Given the description of an element on the screen output the (x, y) to click on. 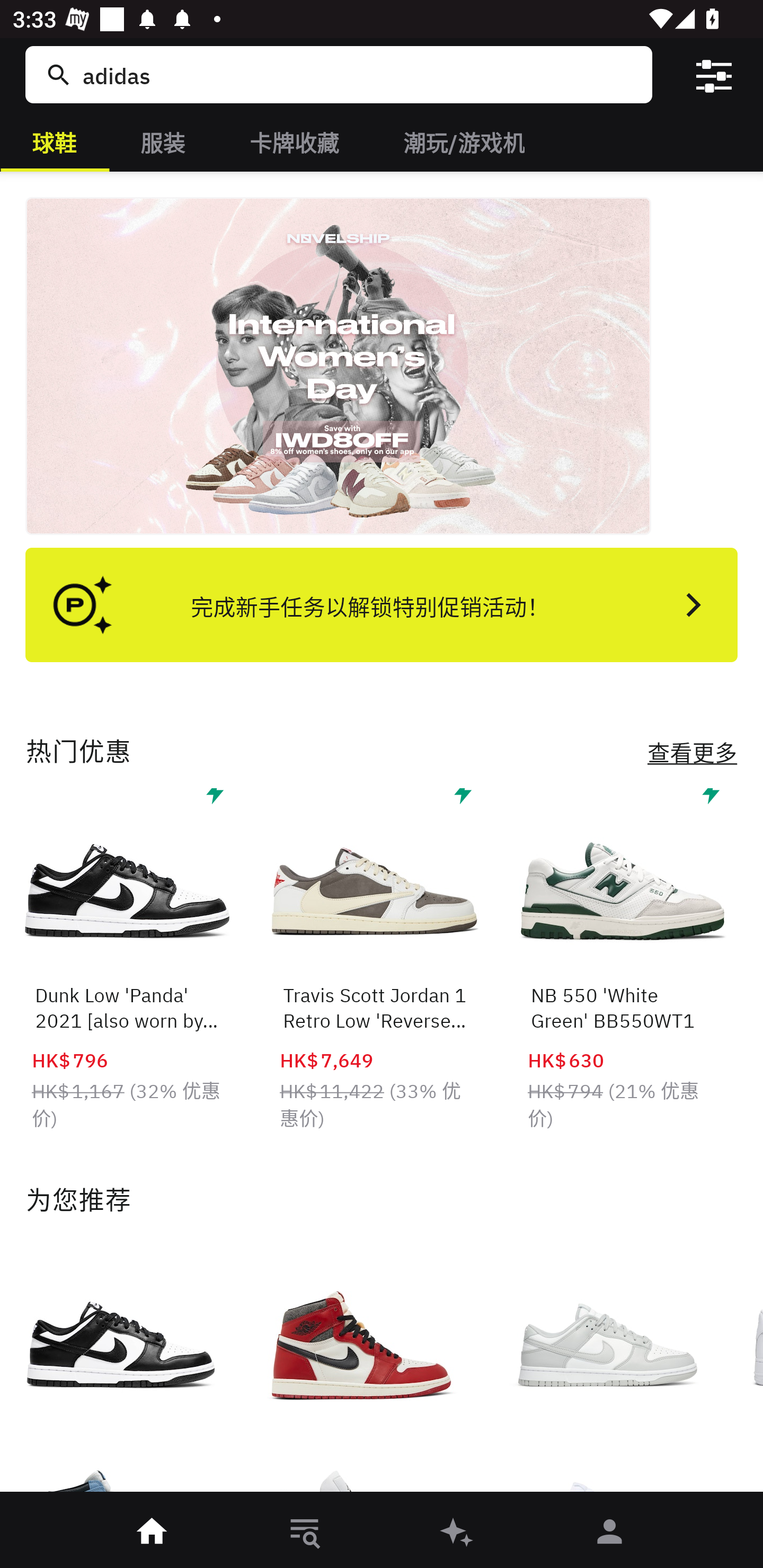
adidas (358, 74)
 (713, 74)
球鞋 (54, 140)
服装 (162, 140)
卡牌收藏 (293, 140)
潮玩/游戏机 (463, 140)
完成新手任务以解锁特别促销活动！  (381, 604)
查看更多 (692, 752)
󰋜 (152, 1532)
󱎸 (305, 1532)
󰫢 (457, 1532)
󰀄 (610, 1532)
